Given the description of an element on the screen output the (x, y) to click on. 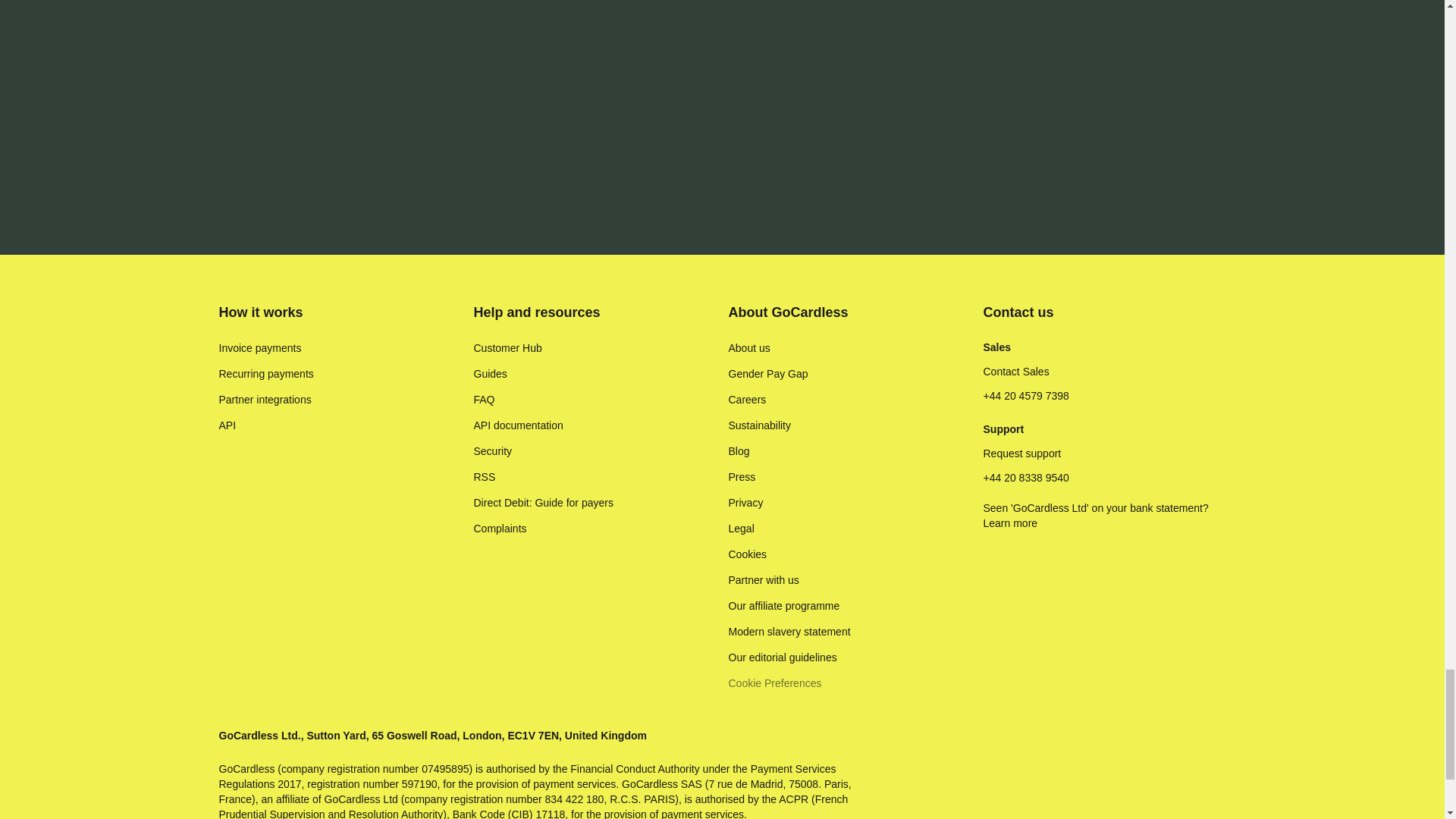
Recurring payments (265, 373)
API documentation (517, 425)
FAQ (484, 399)
Guides (489, 373)
Invoice payments (259, 347)
Complaints (499, 528)
Security (492, 450)
Careers (746, 399)
Customer Hub (507, 347)
RSS (484, 476)
Sustainability (759, 425)
Press (741, 476)
Blog (738, 450)
Privacy (745, 502)
About us (749, 347)
